Given the description of an element on the screen output the (x, y) to click on. 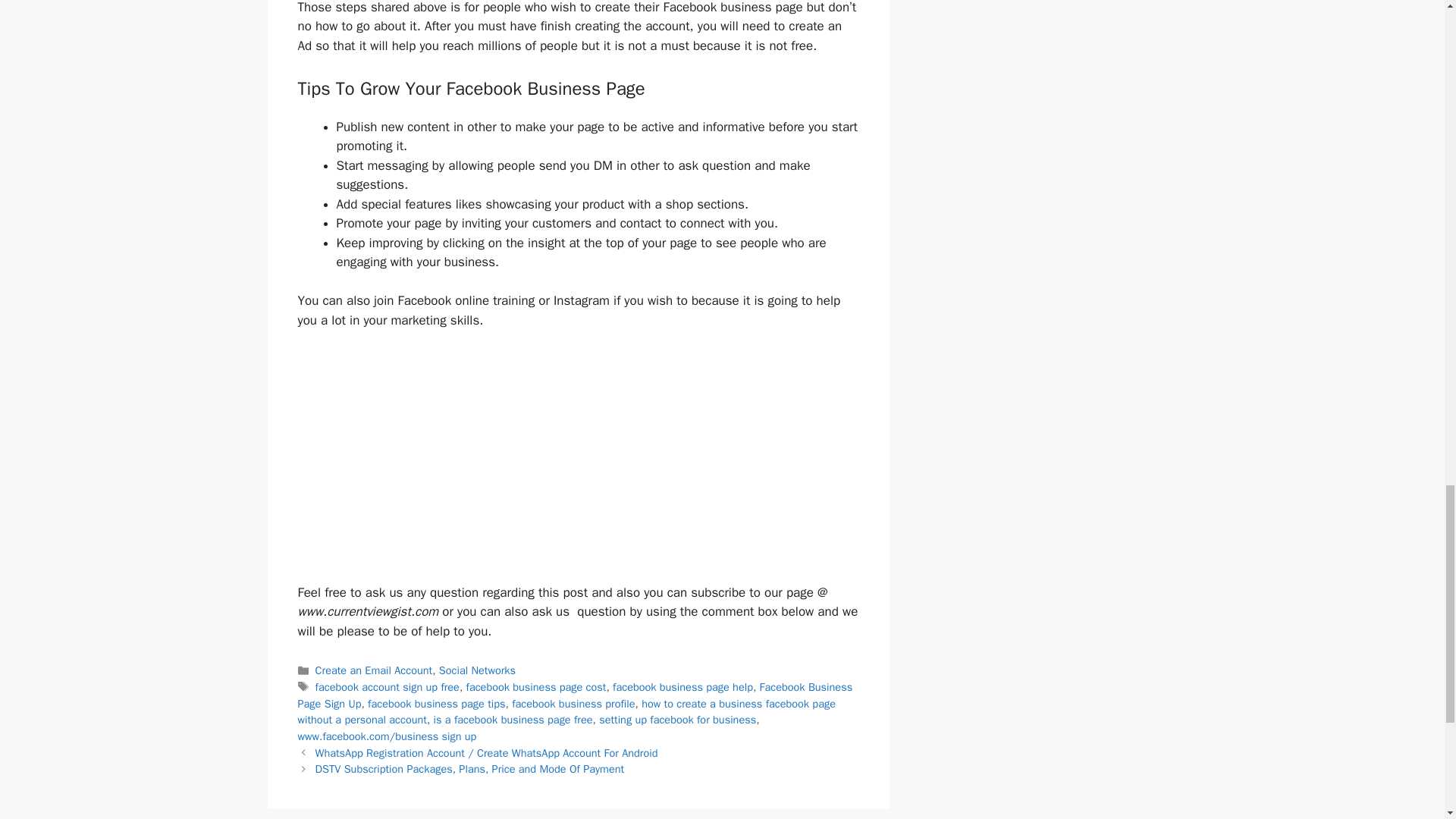
facebook business profile (573, 703)
facebook business page tips (436, 703)
DSTV Subscription Packages, Plans, Price and Mode Of Payment (469, 768)
Advertisement (577, 463)
facebook account sign up free (387, 686)
Social Networks (477, 670)
setting up facebook for business (676, 719)
is a facebook business page free (512, 719)
Create an Email Account (373, 670)
facebook business page help (682, 686)
Facebook Business Page Sign Up (574, 695)
facebook business page cost (536, 686)
